Given the description of an element on the screen output the (x, y) to click on. 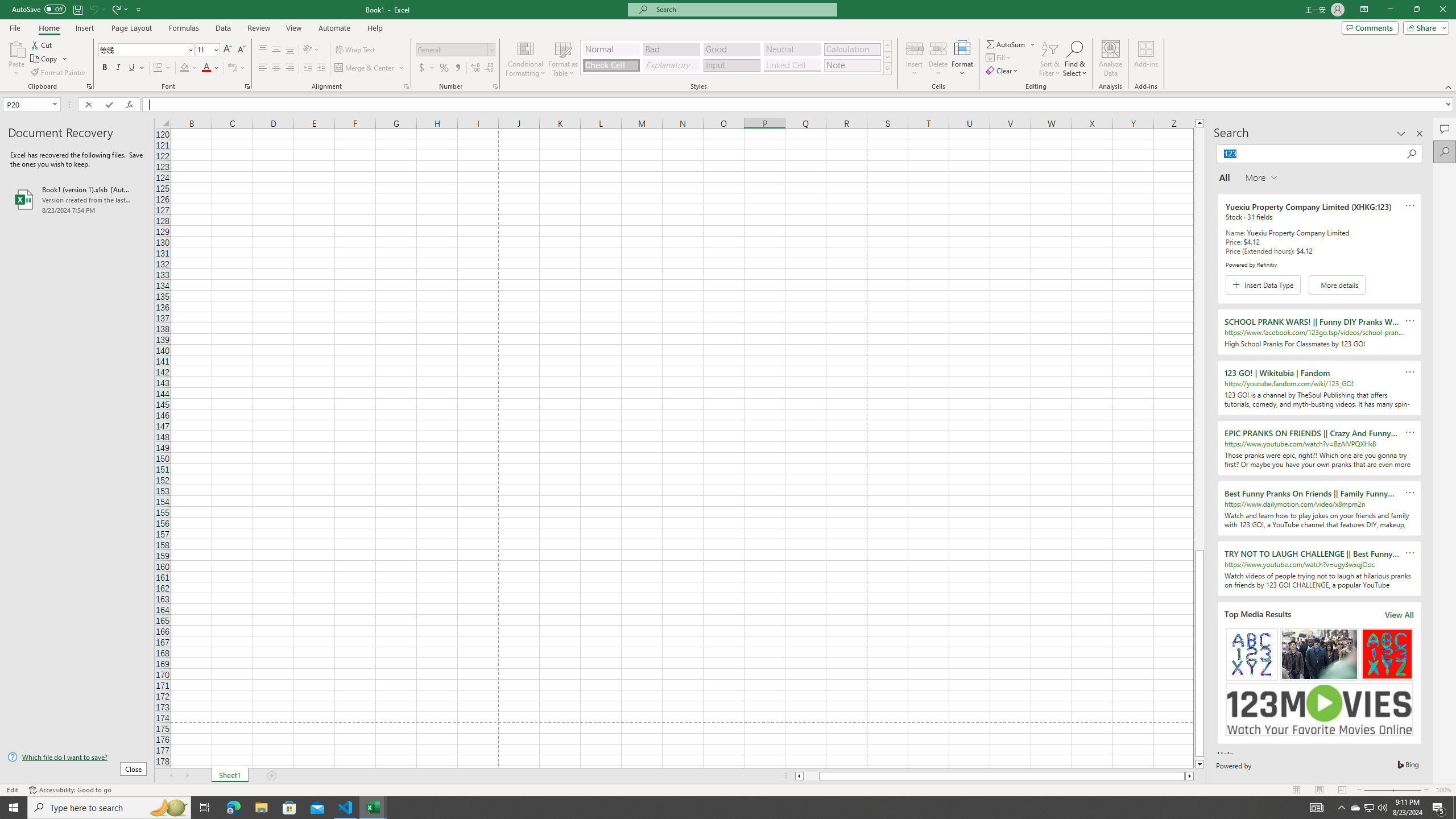
Show Phonetic Field (231, 67)
Number Format (451, 49)
Increase Font Size (227, 49)
Which file do I want to save? (77, 757)
Paste (16, 58)
AutoSum (1011, 44)
Fill Color (188, 67)
Check Cell (611, 65)
Middle Align (276, 49)
